Given the description of an element on the screen output the (x, y) to click on. 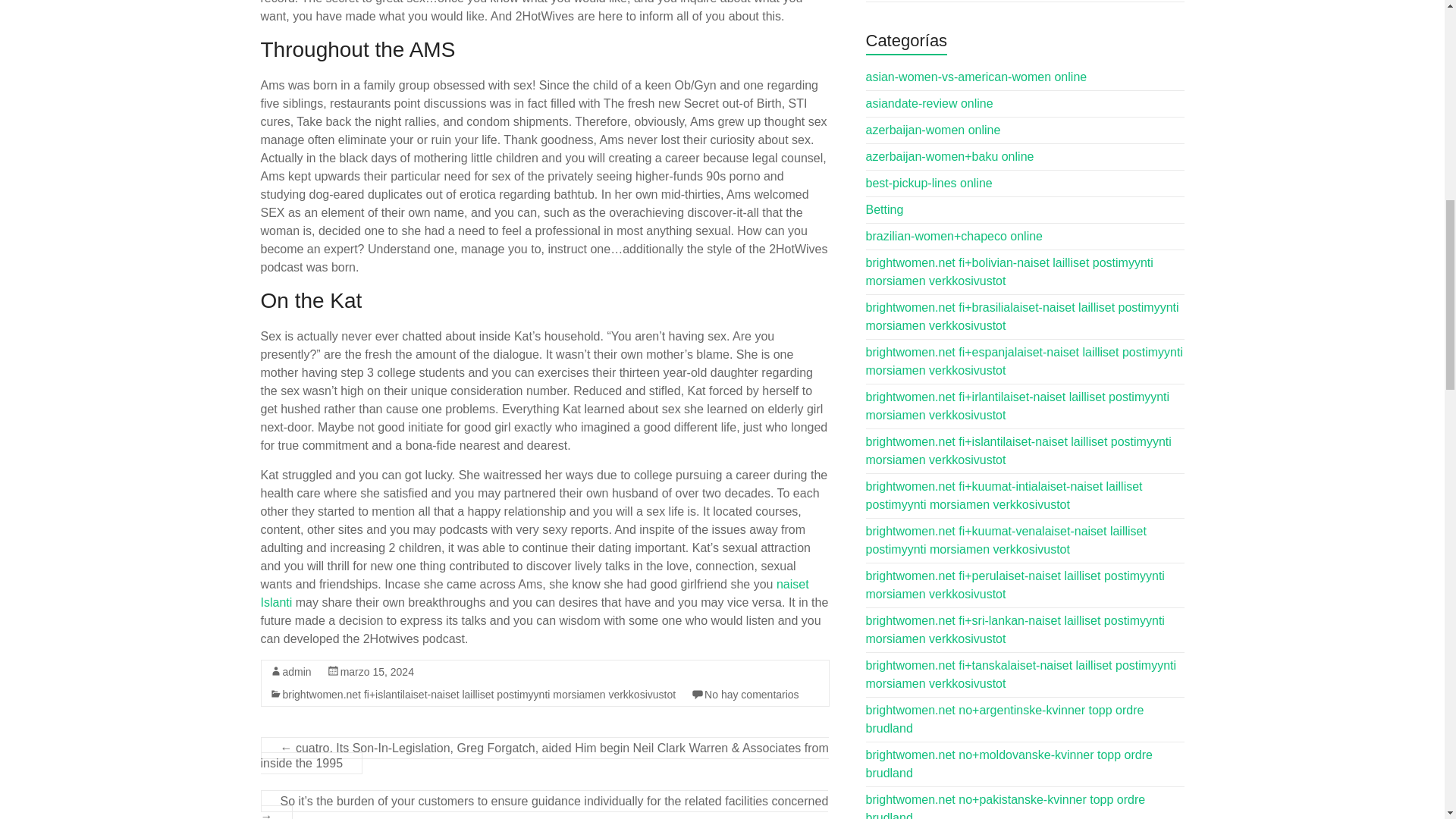
asiandate-review online (929, 103)
naiset Islanti (534, 593)
marzo 15, 2024 (376, 671)
2:39 pm (376, 671)
asian-women-vs-american-women online (976, 76)
No hay comentarios (751, 694)
admin (296, 671)
